Given the description of an element on the screen output the (x, y) to click on. 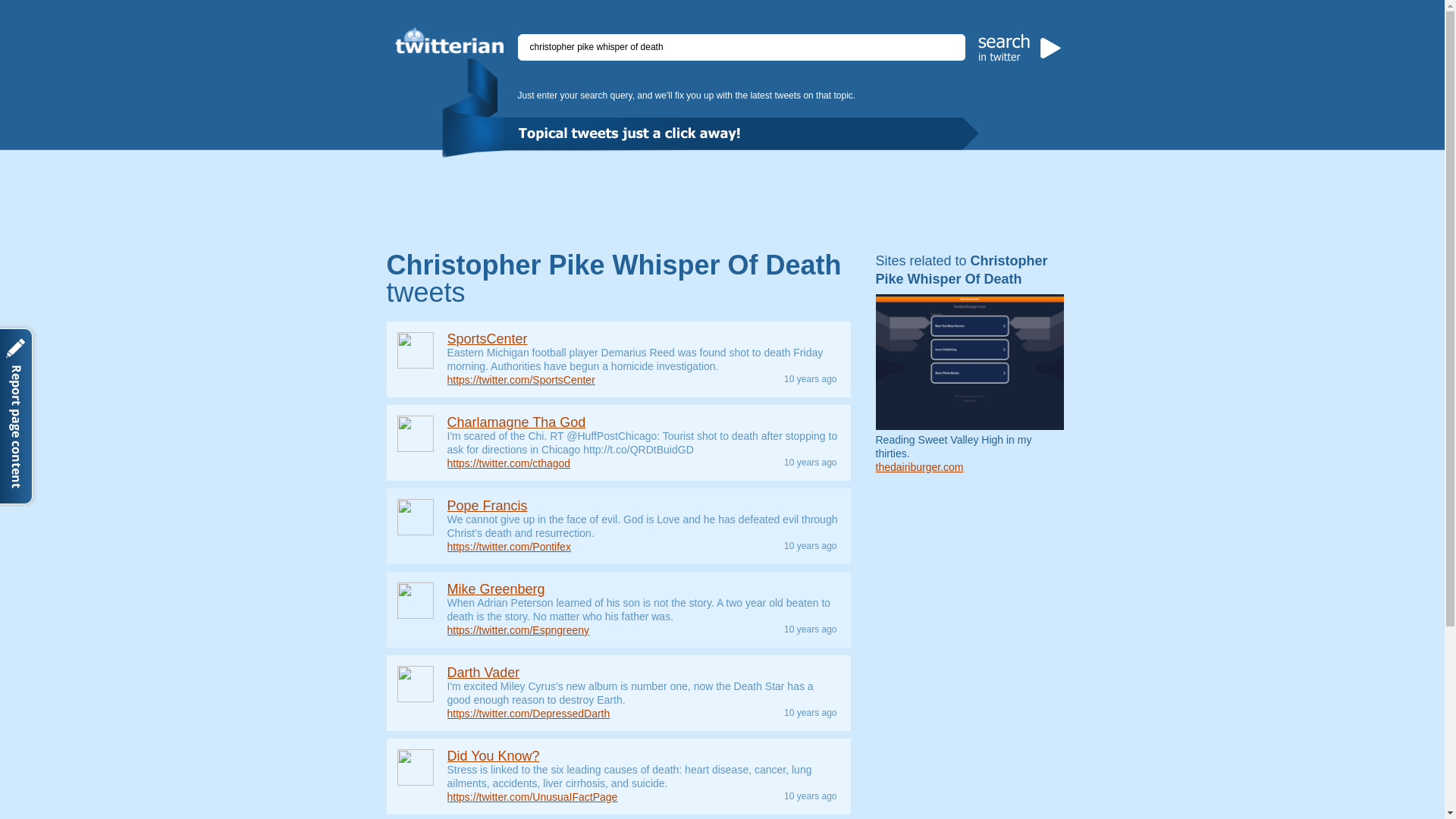
Mike Greenberg (495, 589)
thedairiburger.com (918, 467)
Did You Know? (493, 755)
Charlamagne Tha God (516, 421)
SportsCenter (486, 338)
Advertisement (721, 199)
Pope Francis (486, 505)
christopher pike whisper of death (742, 47)
Darth Vader (482, 672)
